Given the description of an element on the screen output the (x, y) to click on. 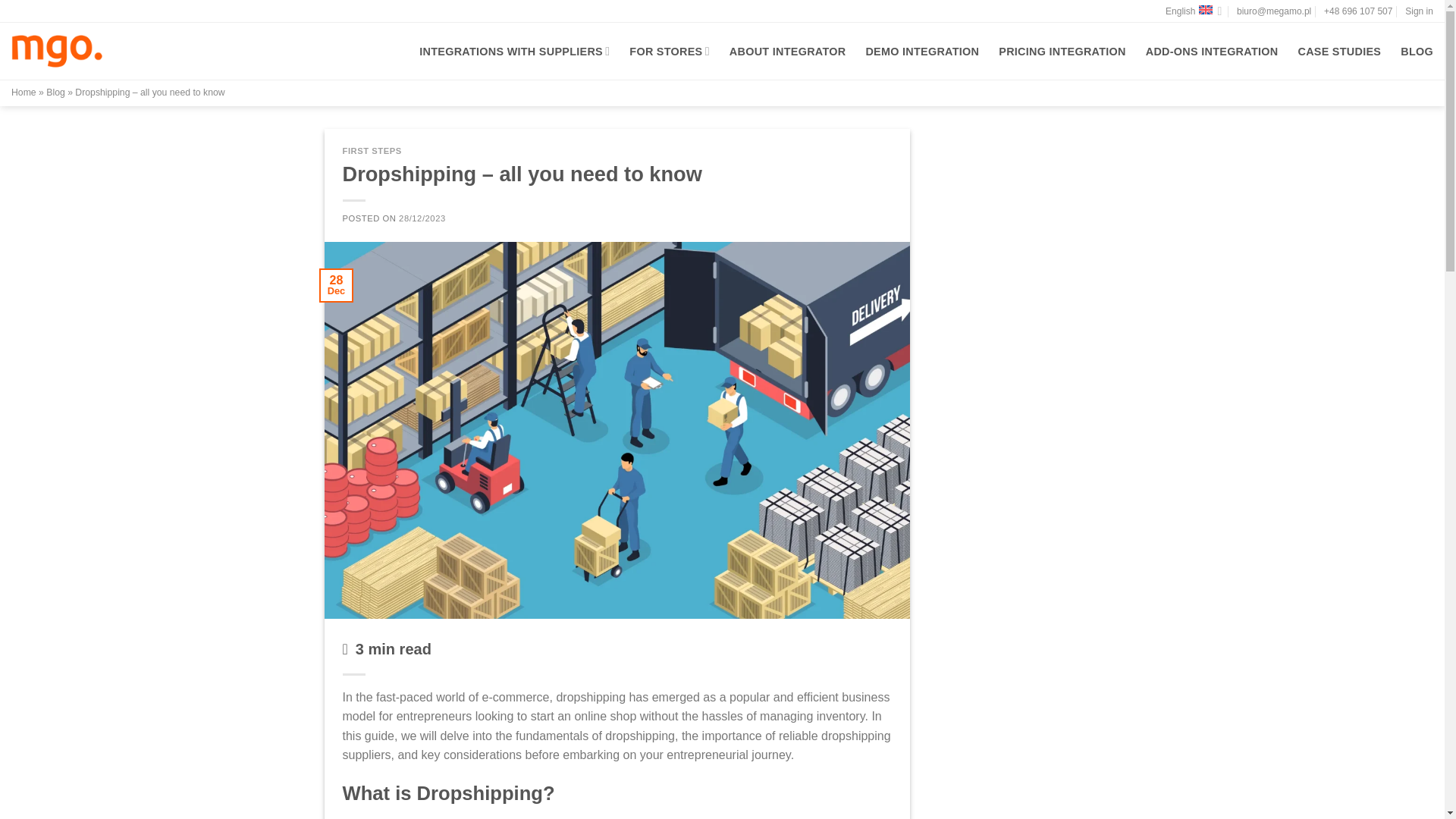
FOR STORES (669, 51)
ABOUT INTEGRATOR (787, 51)
megamo.eu - megamo.eu (56, 50)
English (1193, 11)
DEMO INTEGRATION (921, 51)
Sign in (1418, 11)
INTEGRATIONS WITH SUPPLIERS (514, 51)
